Given the description of an element on the screen output the (x, y) to click on. 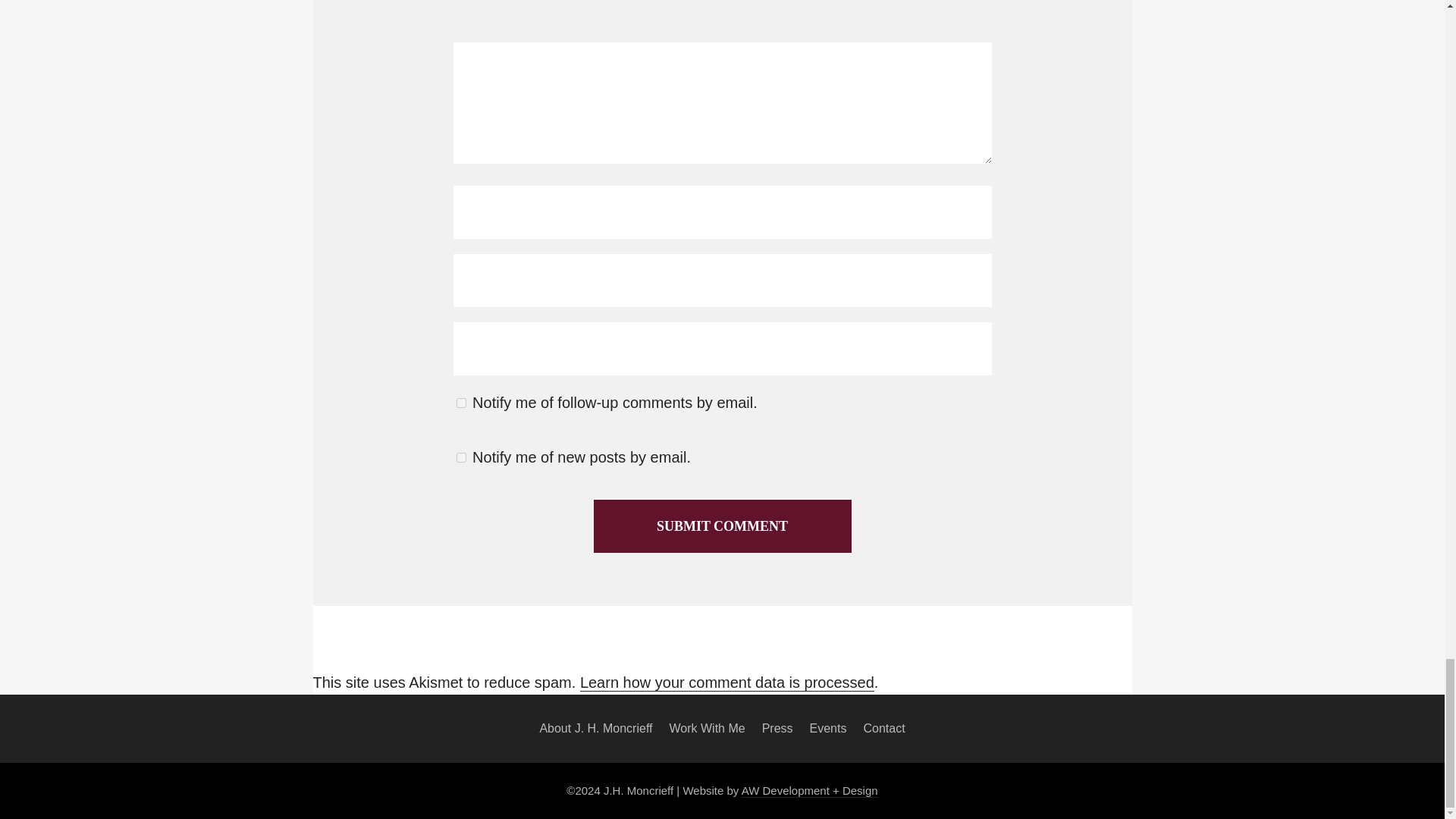
Submit Comment (721, 525)
subscribe (461, 457)
subscribe (461, 402)
